Given the description of an element on the screen output the (x, y) to click on. 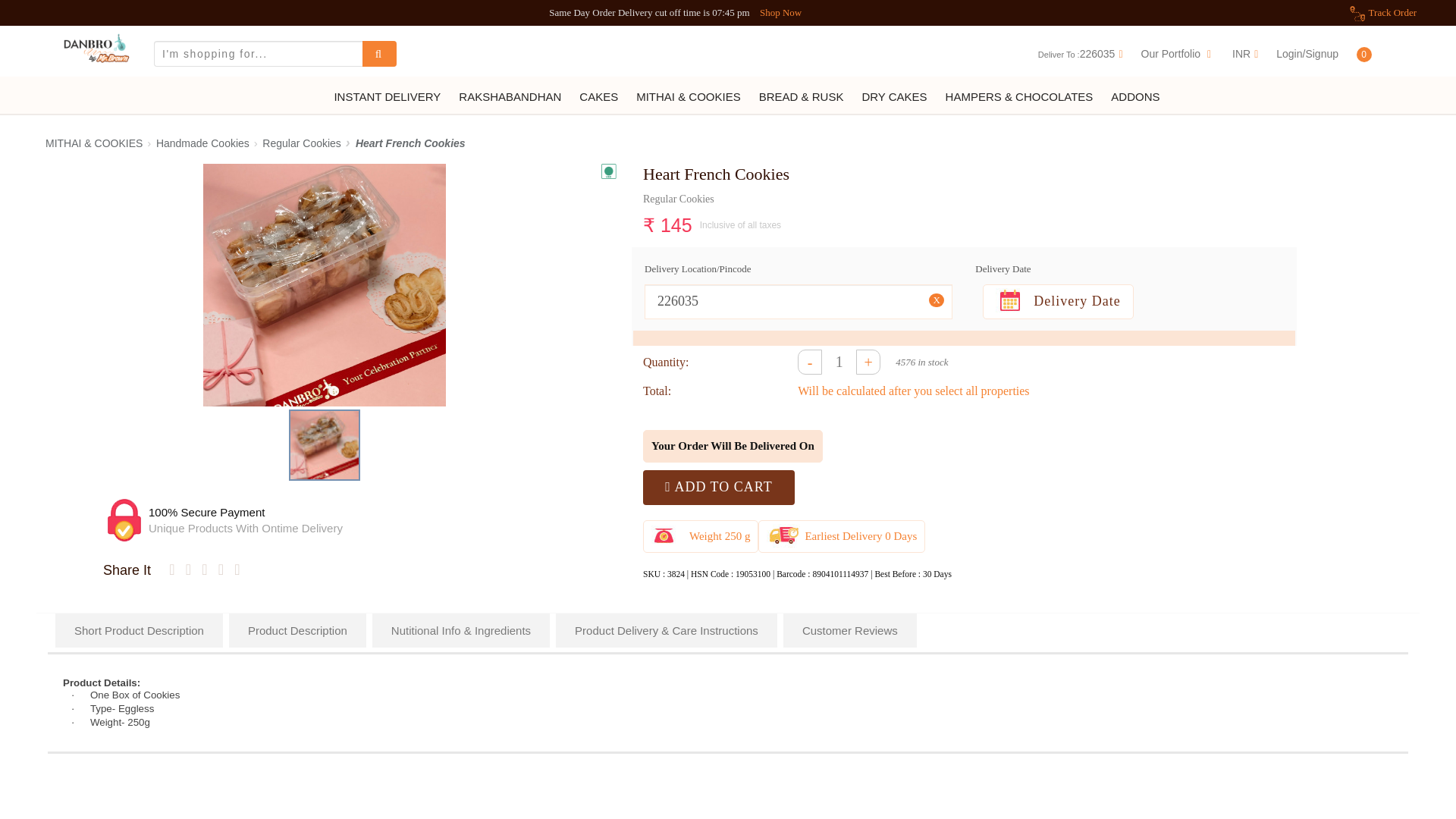
Shop Now (781, 12)
Heart French Cookies (323, 445)
Track Order (1392, 12)
226035 (798, 301)
INSTANT DELIVERY (386, 96)
RAKSHABANDHAN (509, 96)
Deliver To :226035 (1080, 53)
1 (839, 361)
0 (1377, 53)
CAKES (598, 96)
